Given the description of an element on the screen output the (x, y) to click on. 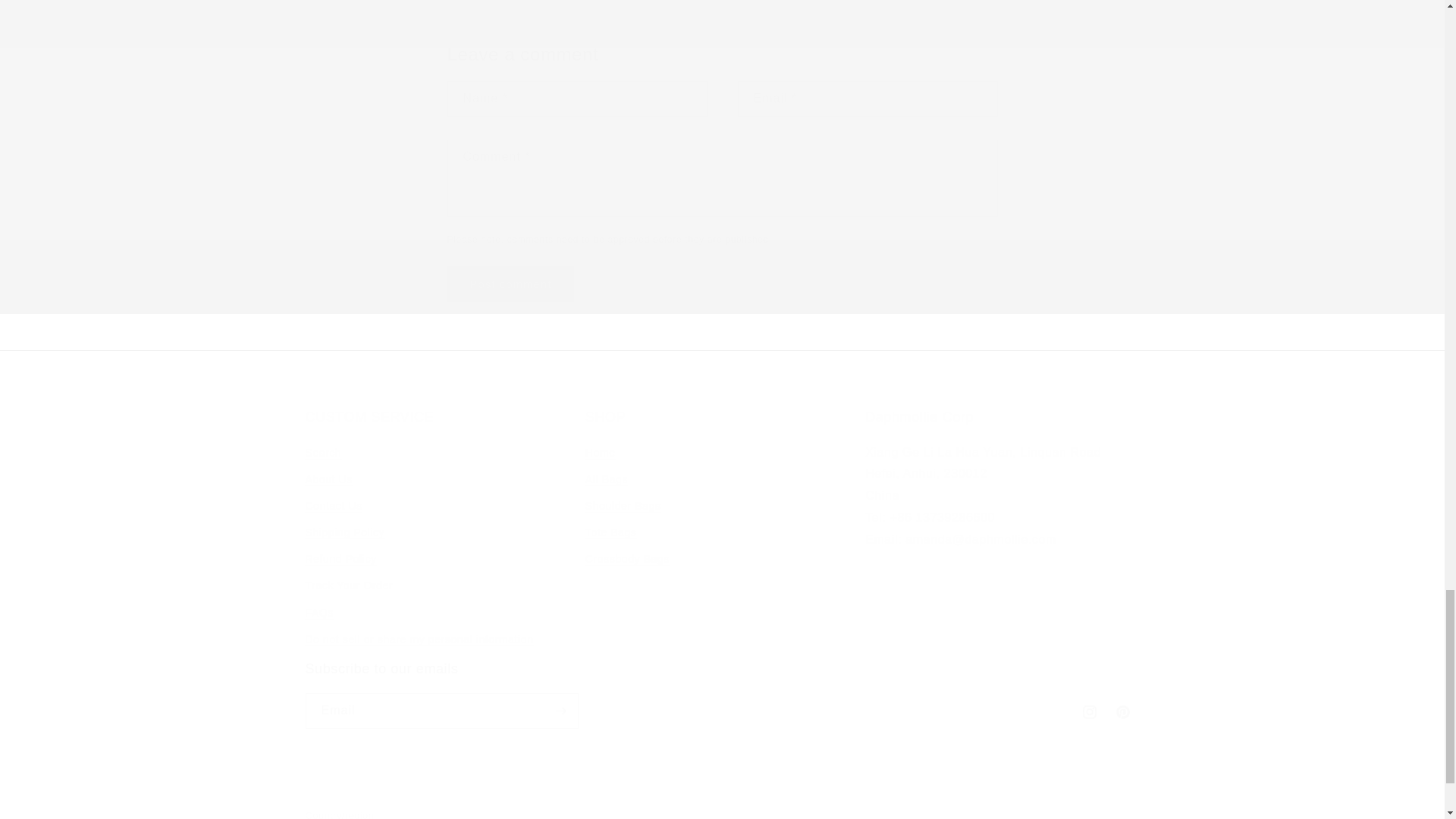
Track Your Order (348, 585)
Refund Policy (339, 559)
Contact Us (332, 506)
Search (322, 454)
About Us (328, 479)
FAQs (318, 612)
Post comment (722, 530)
Shipping Policy (510, 284)
Post comment (344, 532)
